Given the description of an element on the screen output the (x, y) to click on. 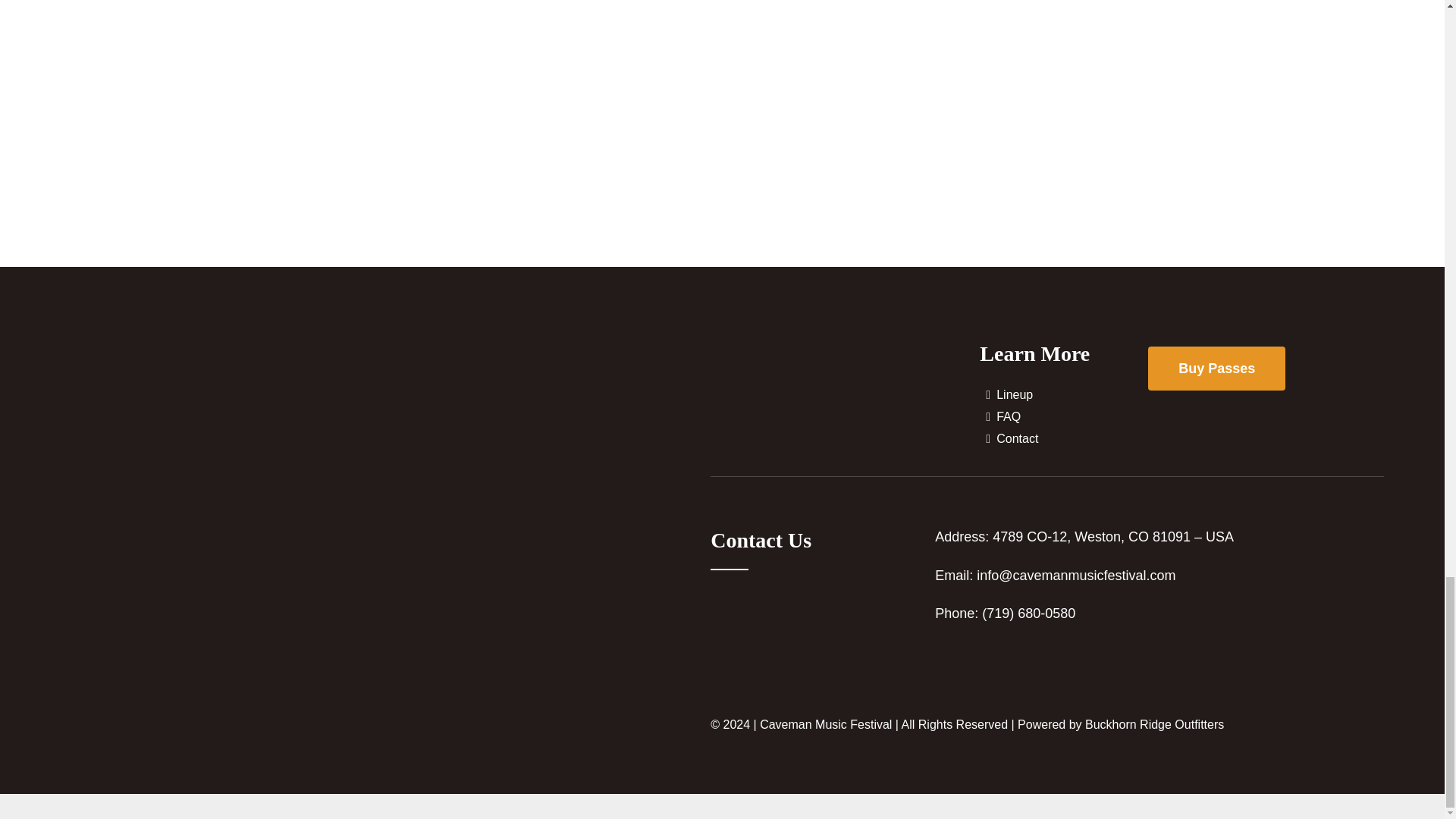
Lineup (1063, 395)
Buy Passes (1216, 368)
FAQ (1063, 417)
Contact (1063, 439)
